Given the description of an element on the screen output the (x, y) to click on. 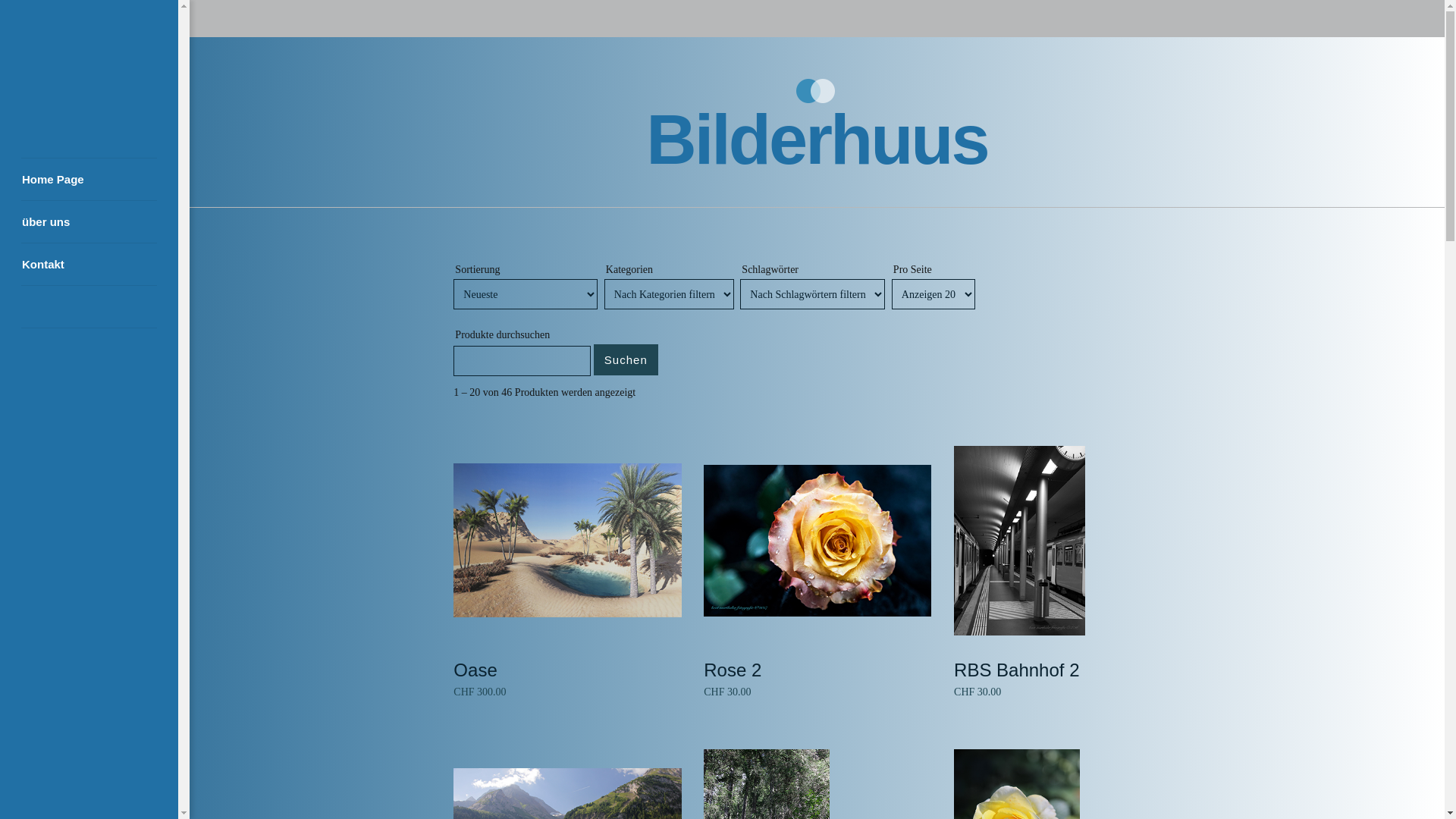
RBS Bahnhof 2
CHF 30.00 Element type: text (1067, 573)
Kontakt Element type: text (88, 264)
Shop Element type: text (88, 306)
Bilderhuus Element type: text (816, 139)
Oase
CHF 300.00 Element type: text (566, 573)
Home Page Element type: text (88, 179)
Suchen Element type: text (625, 359)
Rose 2
CHF 30.00 Element type: text (817, 573)
